Given the description of an element on the screen output the (x, y) to click on. 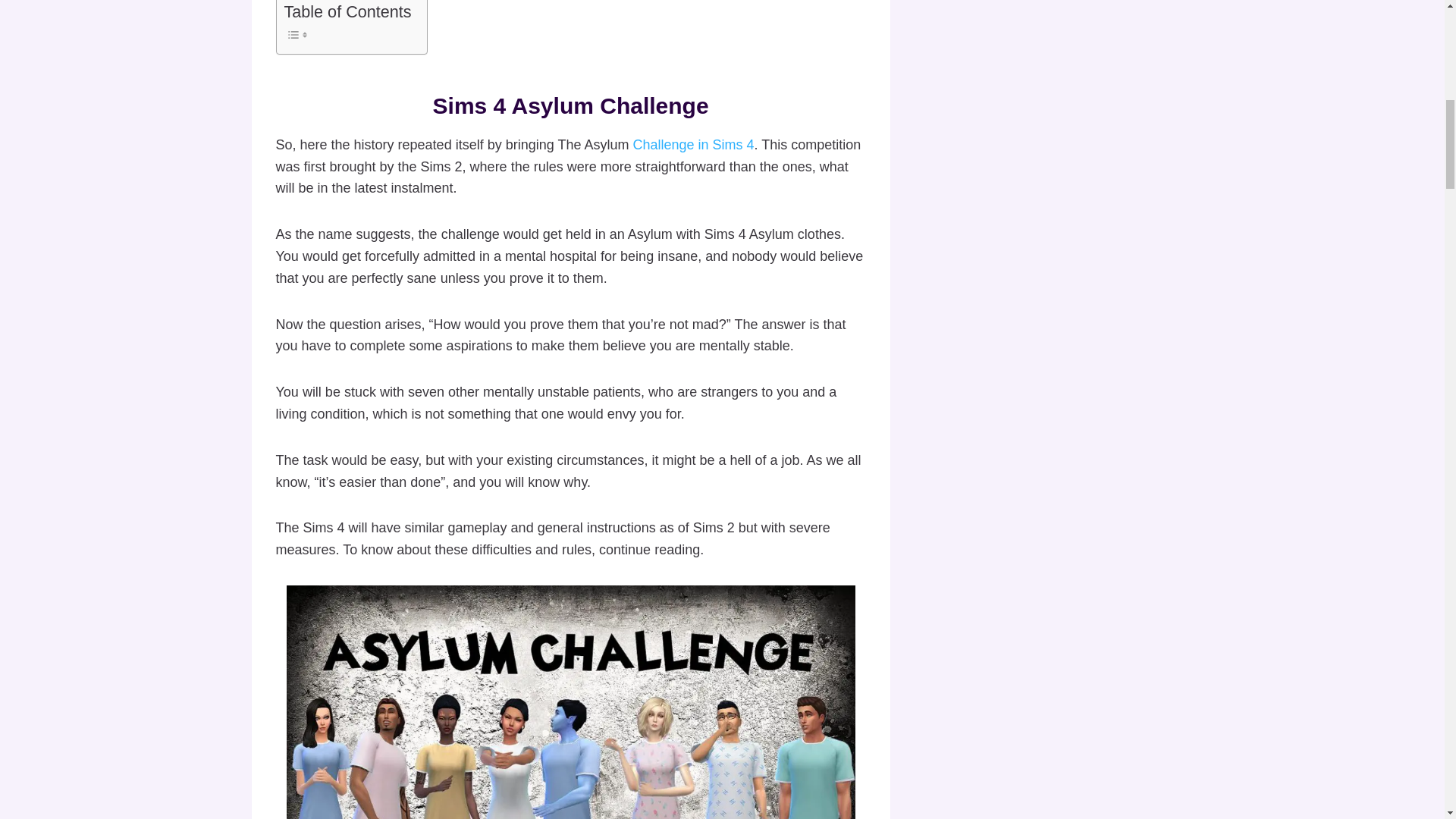
Challenge in Sims 4 (692, 144)
